Given the description of an element on the screen output the (x, y) to click on. 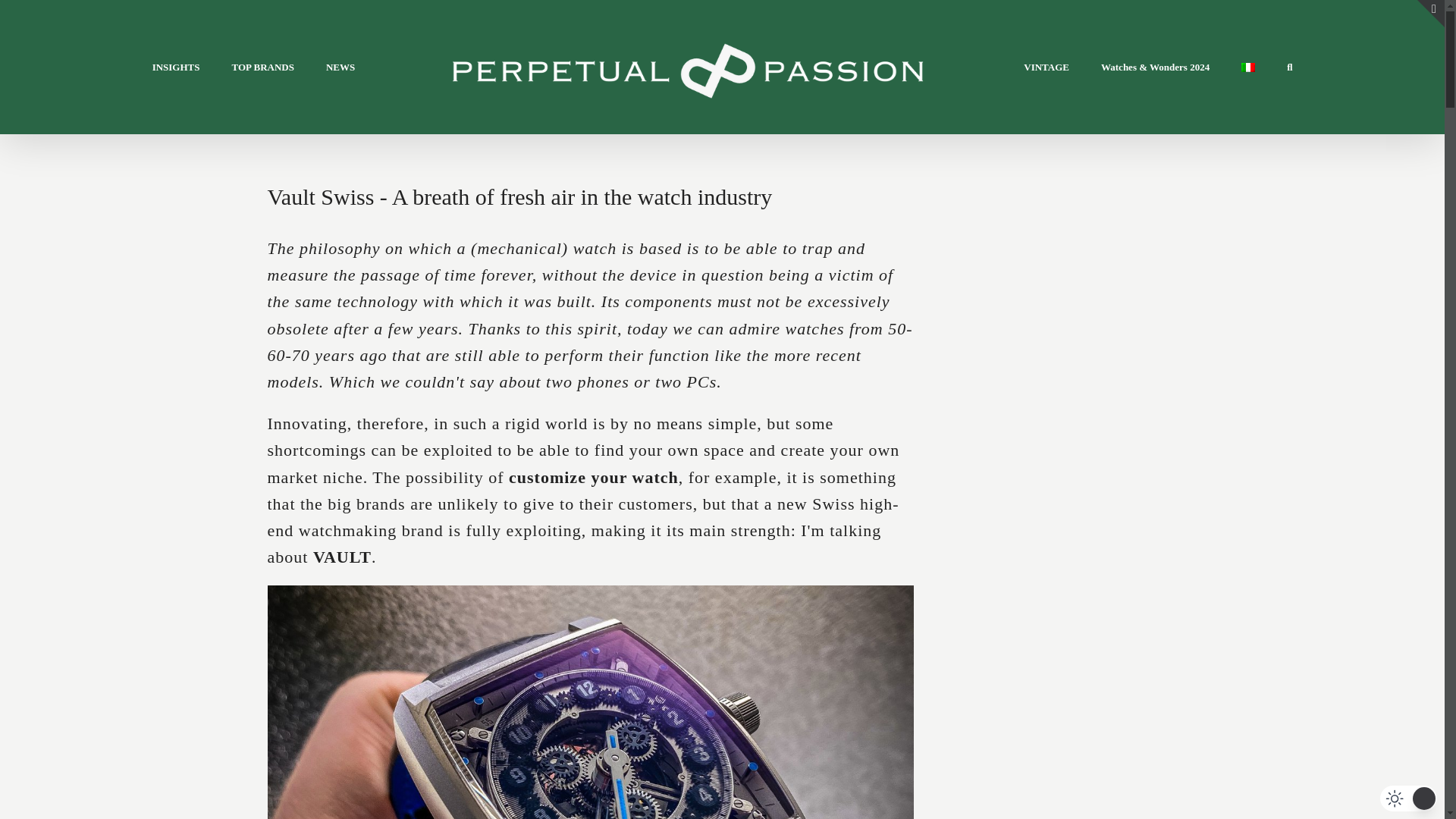
TOP BRANDS (262, 66)
Italian (1248, 66)
INSIGHTS (176, 66)
